Given the description of an element on the screen output the (x, y) to click on. 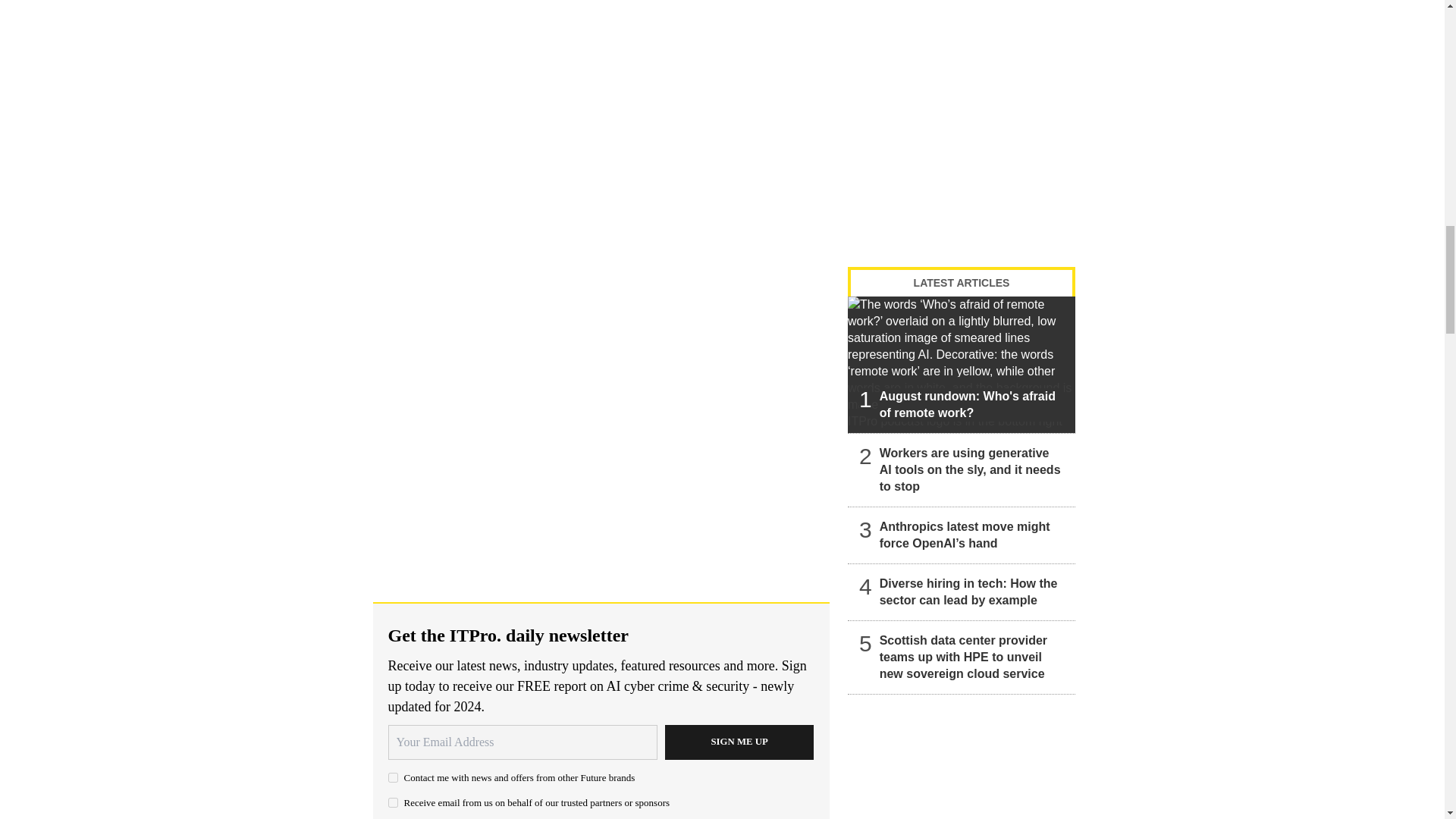
Sign me up (739, 742)
on (392, 777)
on (392, 802)
August rundown: Who's afraid of remote work? (961, 364)
